Given the description of an element on the screen output the (x, y) to click on. 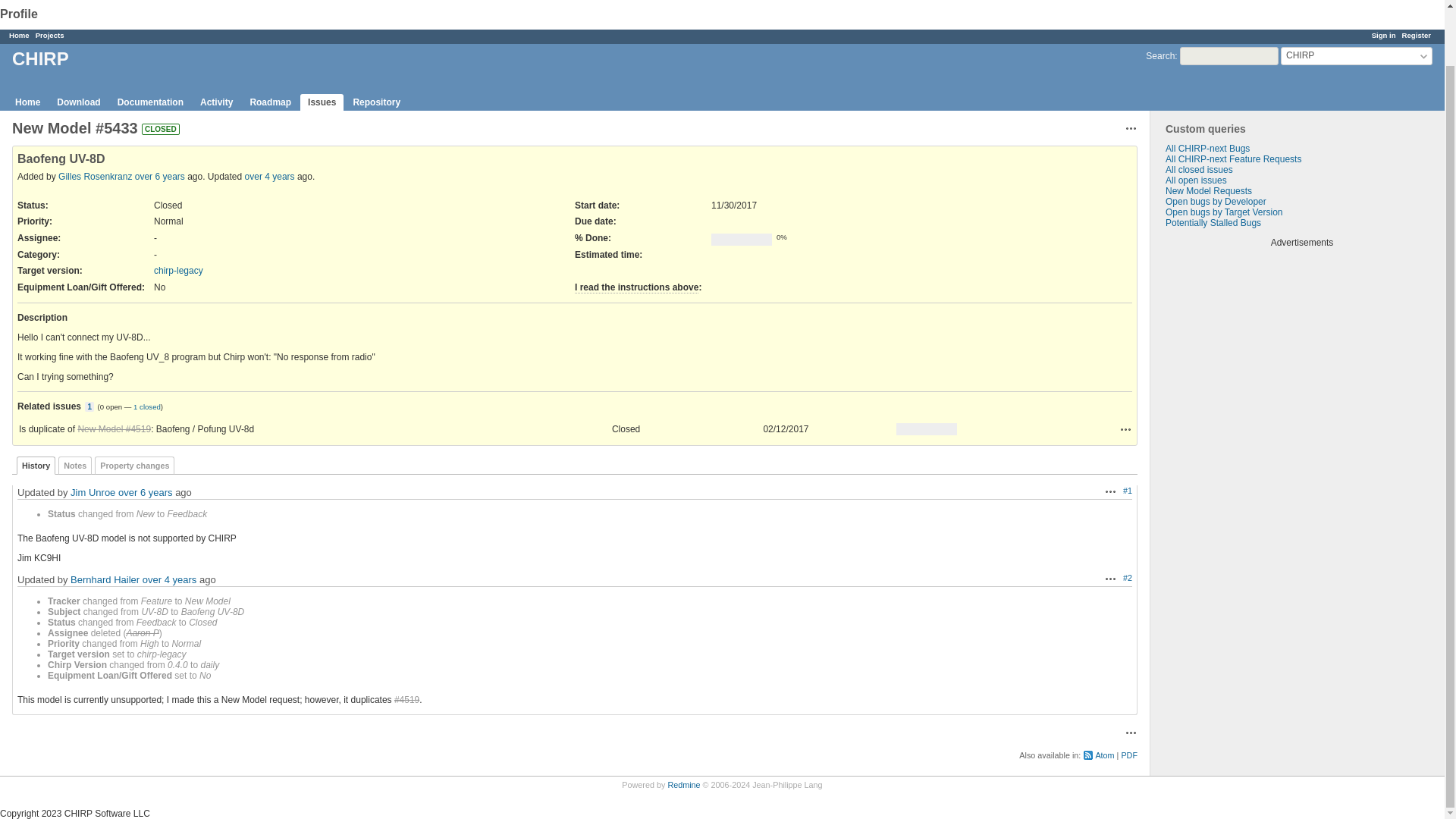
Actions (1110, 491)
Download (78, 102)
All open issues (1196, 180)
Search (1159, 55)
Repository (376, 102)
Open bugs by Developer (1216, 201)
All CHIRP-next Bugs (1207, 148)
Issues (321, 102)
Projects (49, 35)
